Given the description of an element on the screen output the (x, y) to click on. 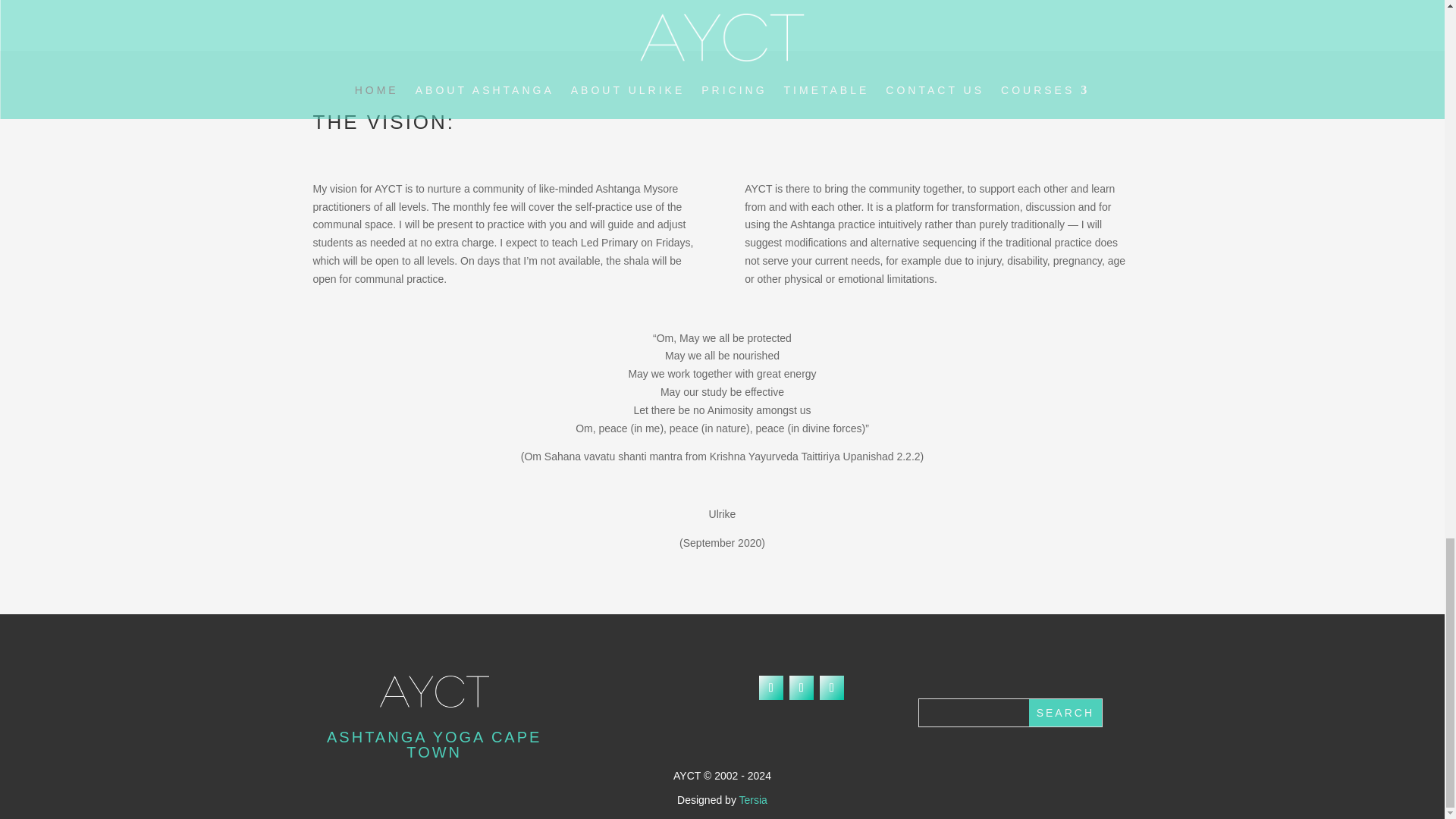
Follow on Facebook (770, 687)
Follow on Instagram (831, 687)
Search (1065, 712)
Follow on X (801, 687)
Tersia (753, 799)
white-logo (434, 691)
Search (1065, 712)
Search (1065, 712)
